Given the description of an element on the screen output the (x, y) to click on. 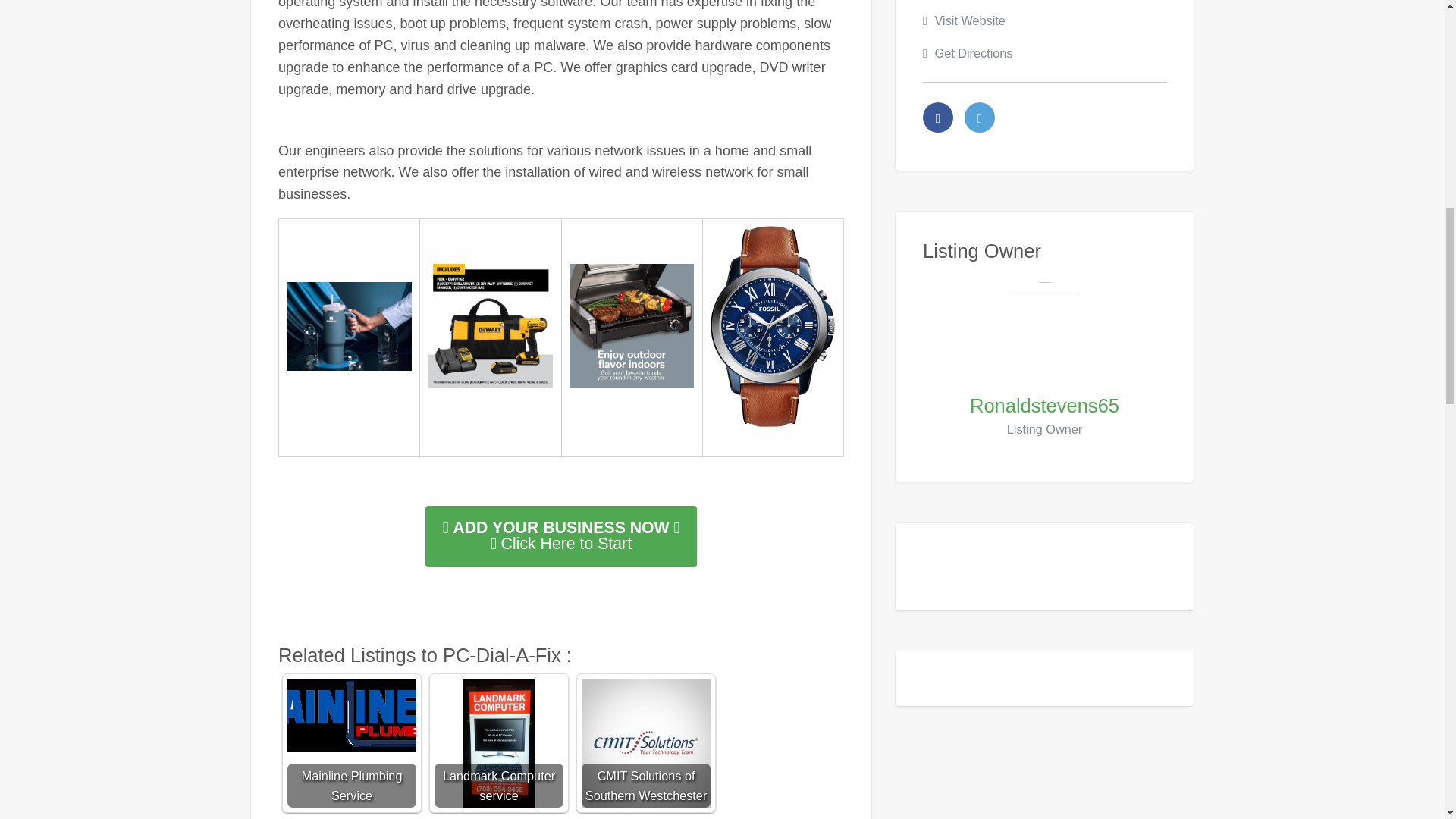
CMIT Solutions of Southern Westchester (645, 742)
Mainline Plumbing Service (351, 714)
